Given the description of an element on the screen output the (x, y) to click on. 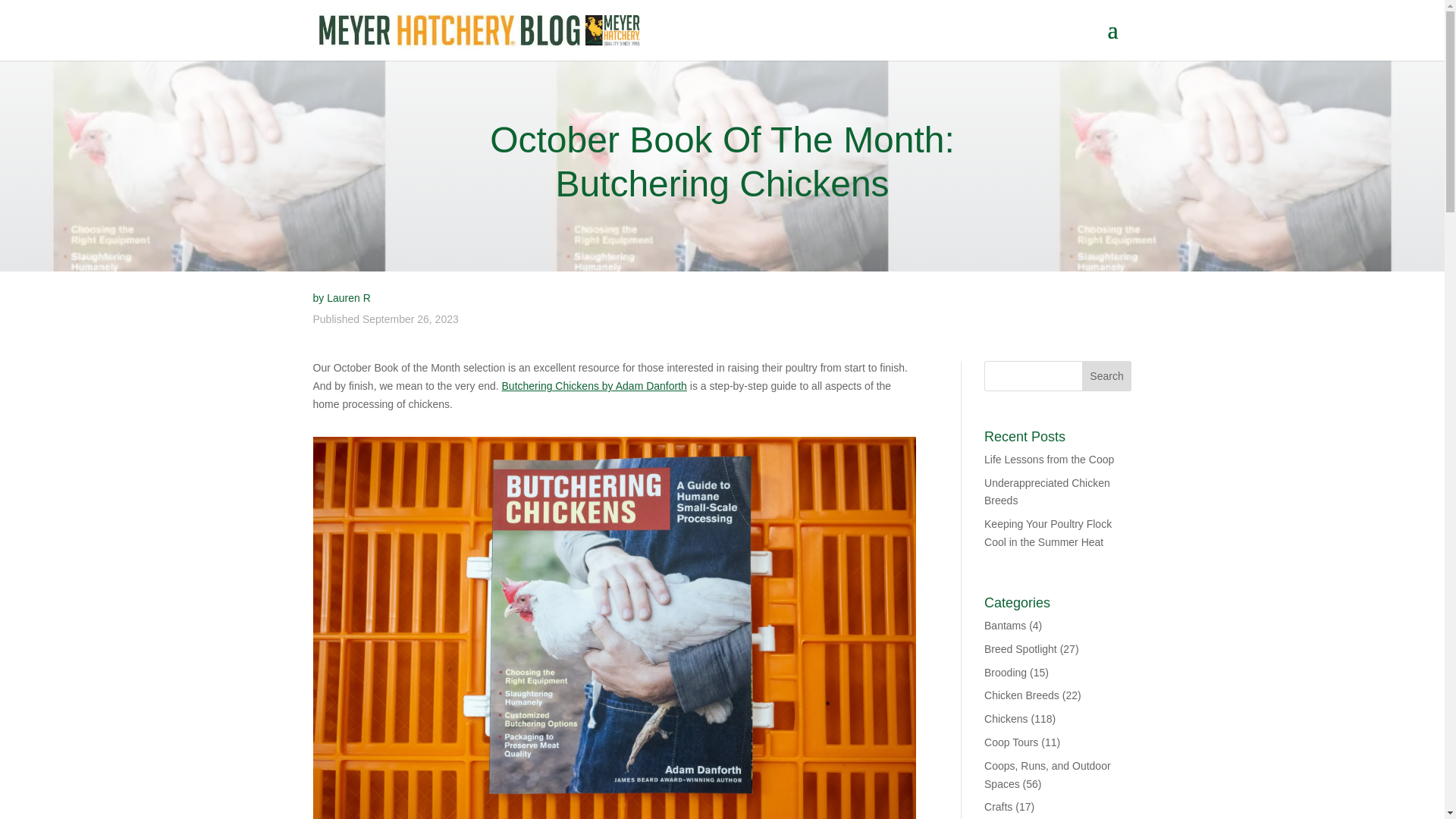
Life Lessons from the Coop (1048, 459)
Search (1106, 376)
Underappreciated Chicken Breeds (1046, 491)
Search (1106, 376)
Keeping Your Poultry Flock Cool in the Summer Heat (1048, 532)
Butchering Chickens by Adam Danforth (594, 386)
